Given the description of an element on the screen output the (x, y) to click on. 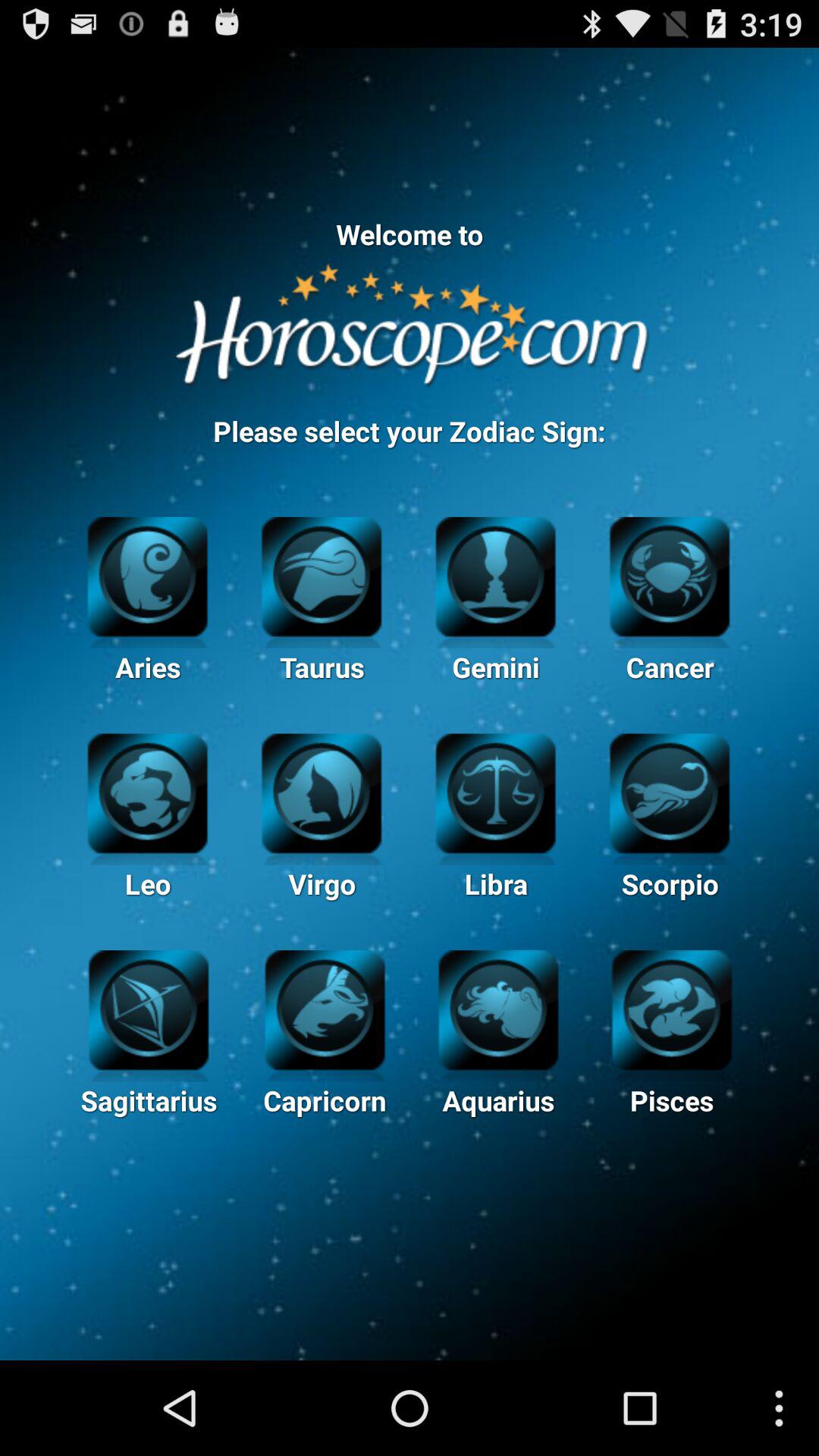
select the taurus option (321, 574)
